Given the description of an element on the screen output the (x, y) to click on. 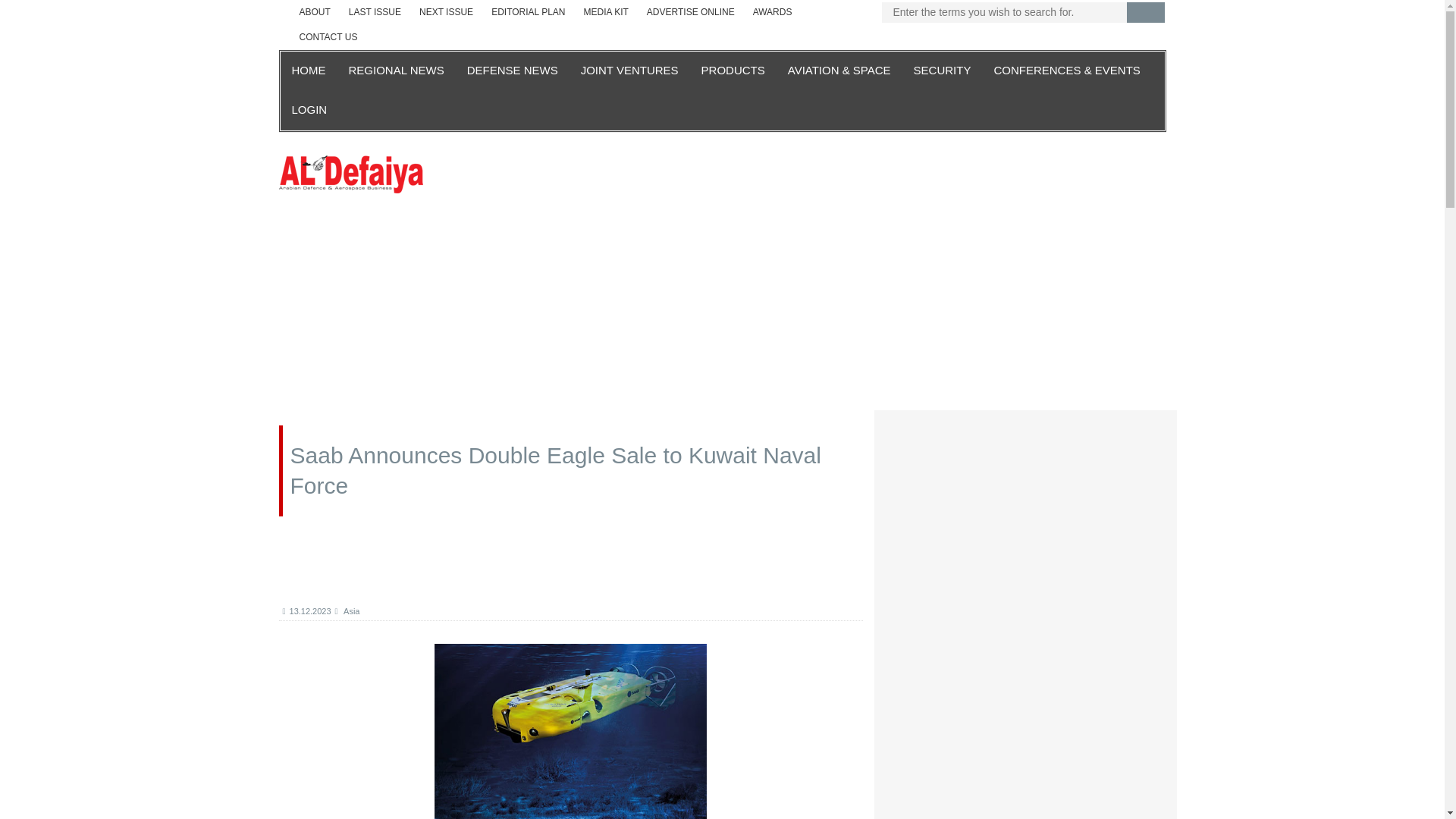
AWARDS (773, 12)
NEXT ISSUE (445, 12)
EDITORIAL PLAN (527, 12)
REGIONAL NEWS (395, 70)
ABOUT (314, 12)
Search (1145, 12)
HOME (309, 70)
Home (351, 173)
JOINT VENTURES (629, 70)
Saab Announces Double Eagle Sale to Kuwait Naval Force (570, 731)
